Given the description of an element on the screen output the (x, y) to click on. 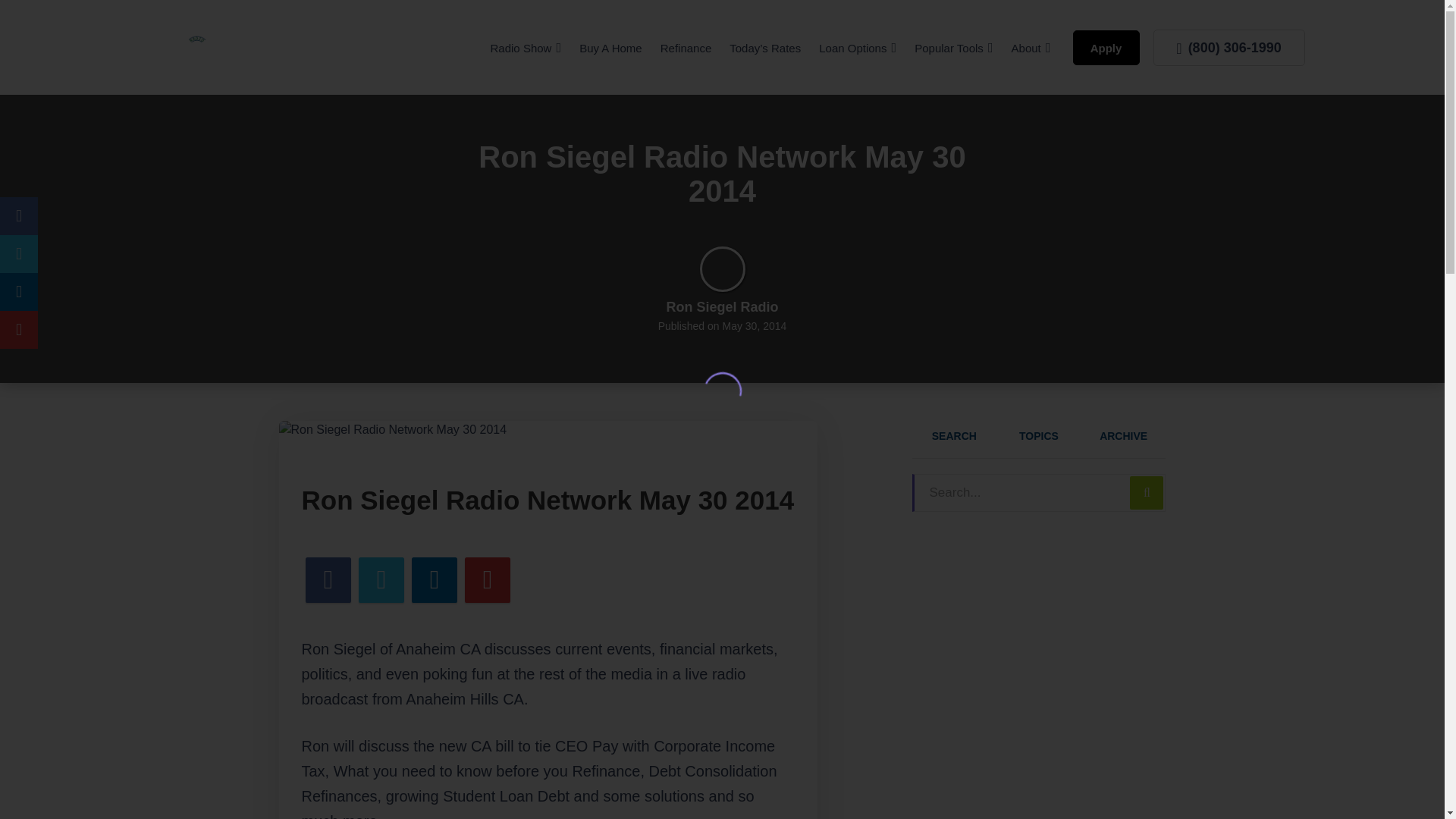
Buy A Home (610, 48)
Refinance (686, 48)
Loan Options (857, 48)
Today's Rates (764, 48)
About (1031, 48)
Radio Show (526, 48)
Radio Show (526, 48)
Apply (1106, 47)
Loan Options (857, 48)
Refinance (686, 48)
